Given the description of an element on the screen output the (x, y) to click on. 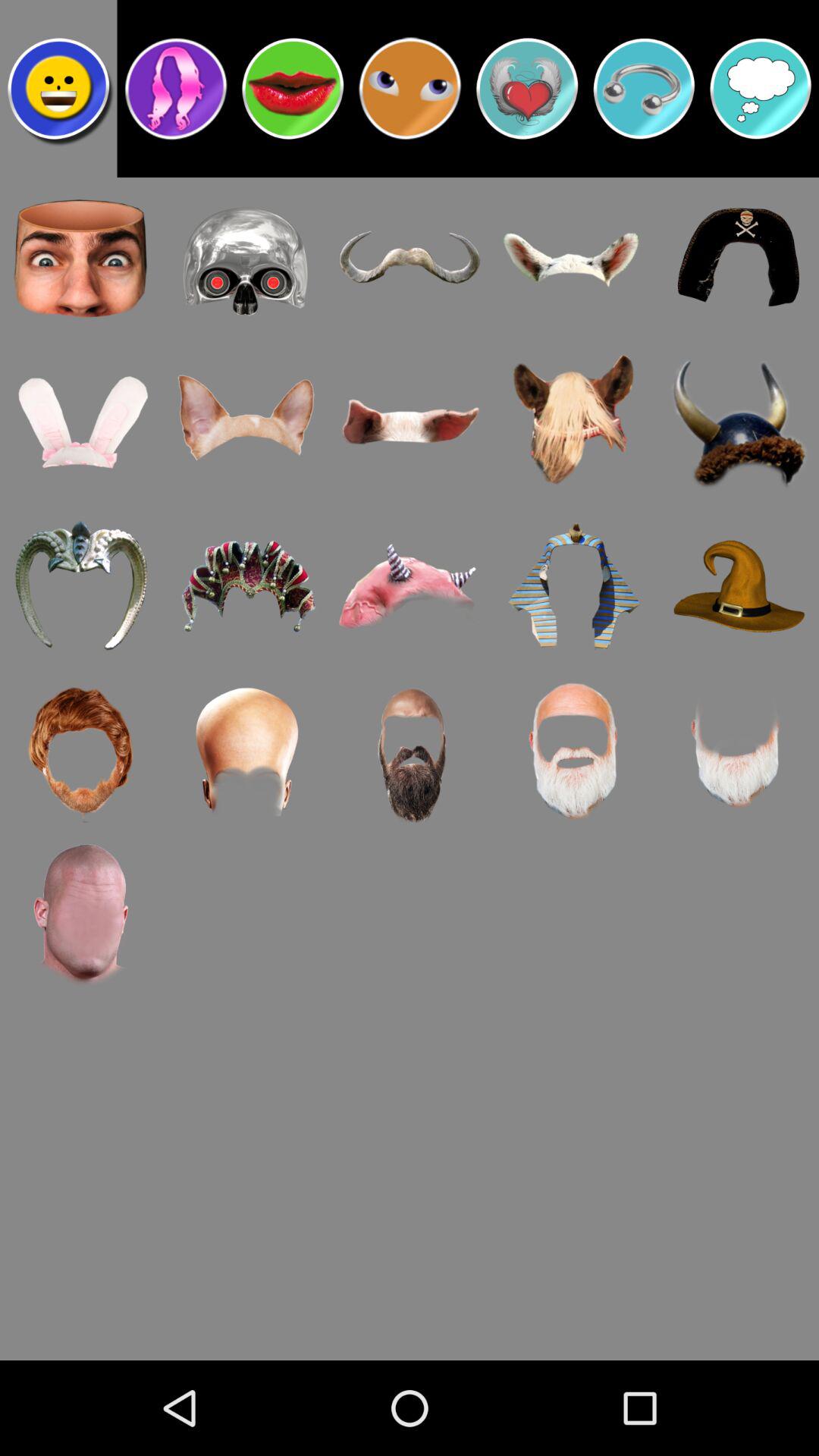
select face (58, 88)
